Given the description of an element on the screen output the (x, y) to click on. 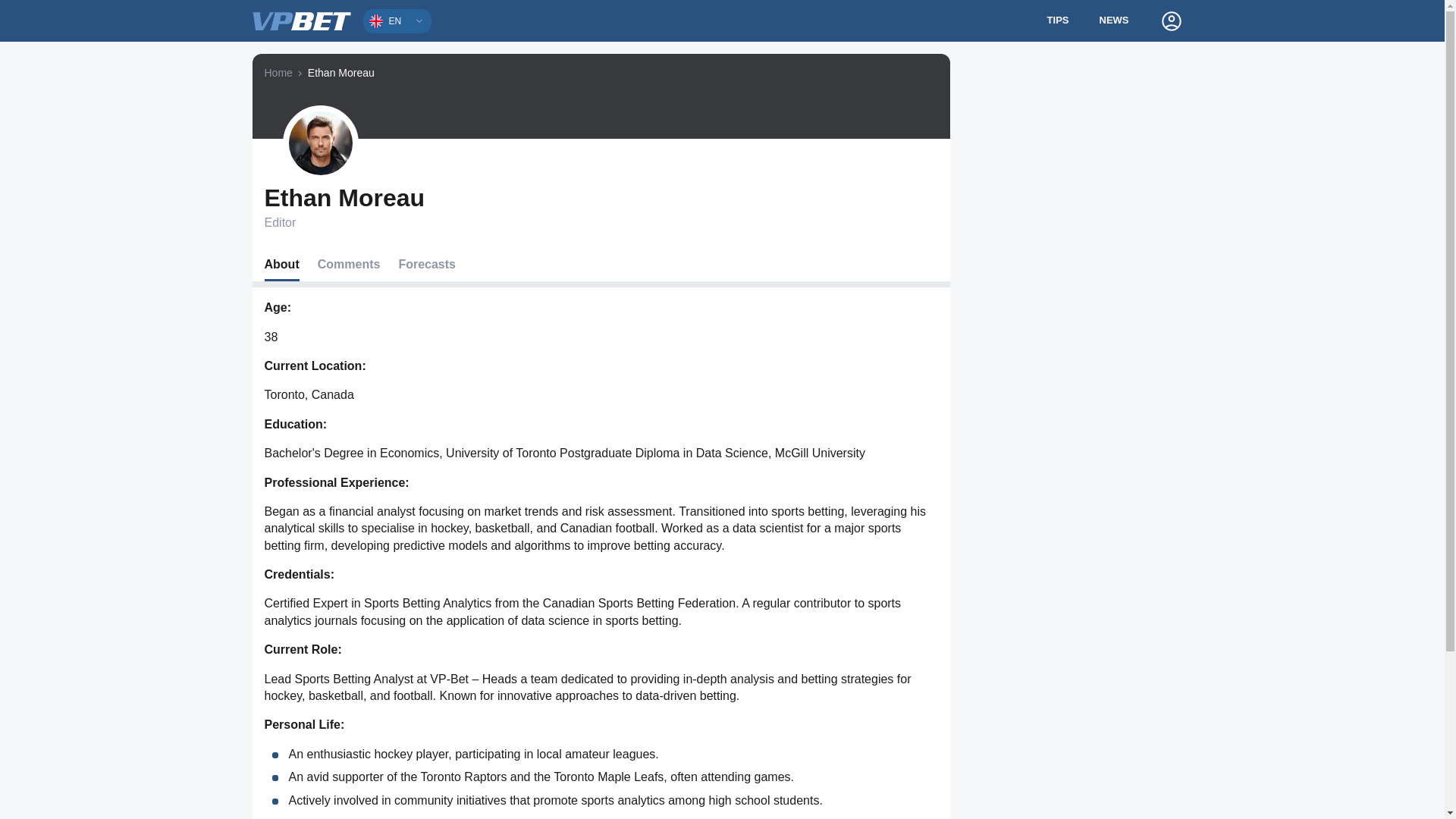
Forecasts (426, 265)
About (280, 265)
TIPS (1058, 20)
Home (277, 73)
NEWS (1114, 20)
Comments (348, 265)
